Given the description of an element on the screen output the (x, y) to click on. 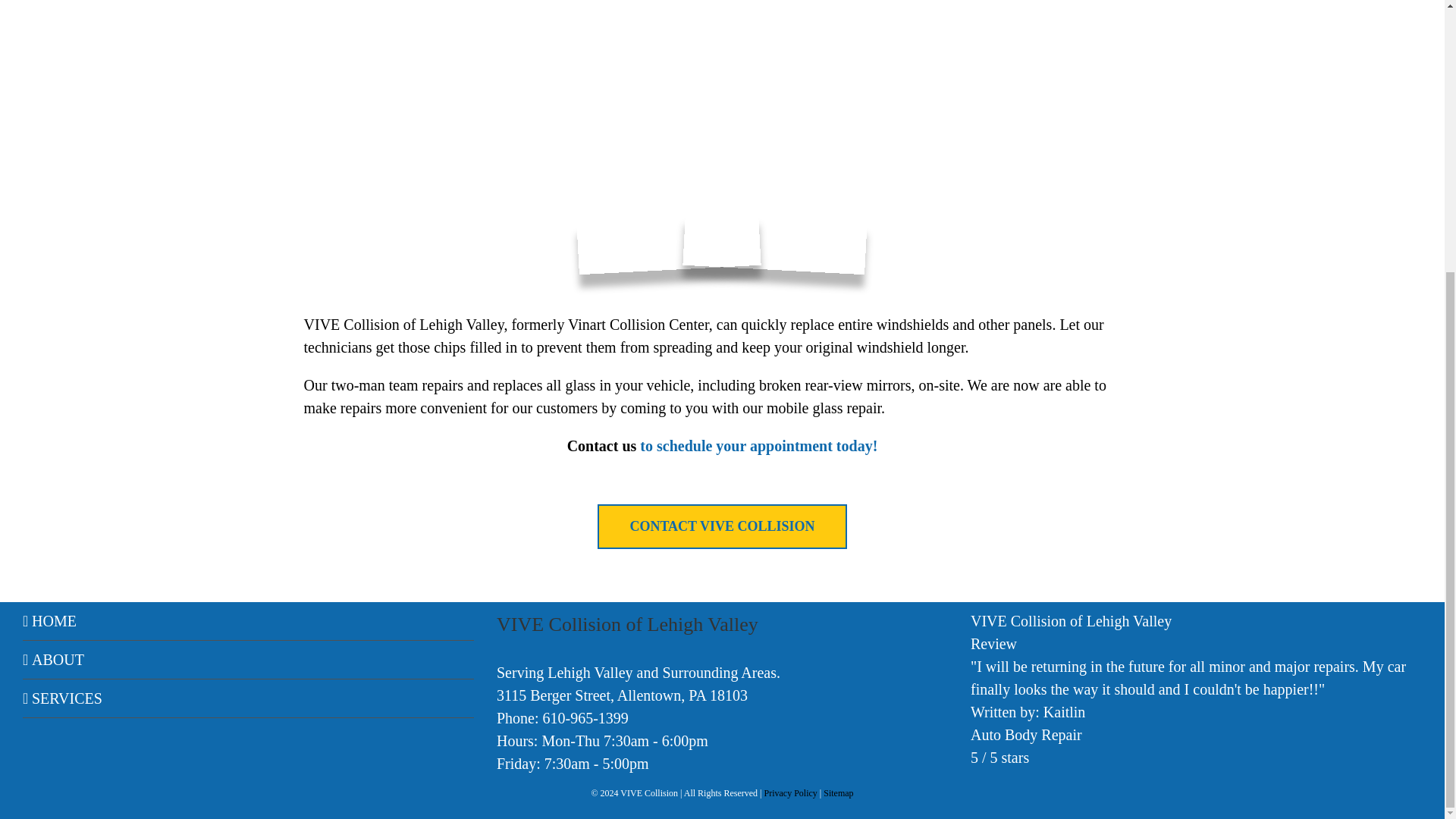
vinart-auto-glass-replacement (721, 149)
Auto Glass Replacement by VIVE Collision (720, 526)
Contact us (602, 445)
ABOUT (248, 659)
Sitemap (838, 792)
HOME (248, 620)
are able to make repairs more convenient (705, 396)
Privacy Policy (789, 792)
CONTACT VIVE COLLISION (720, 526)
VIVE Collision of Lehigh Valley (403, 324)
